Given the description of an element on the screen output the (x, y) to click on. 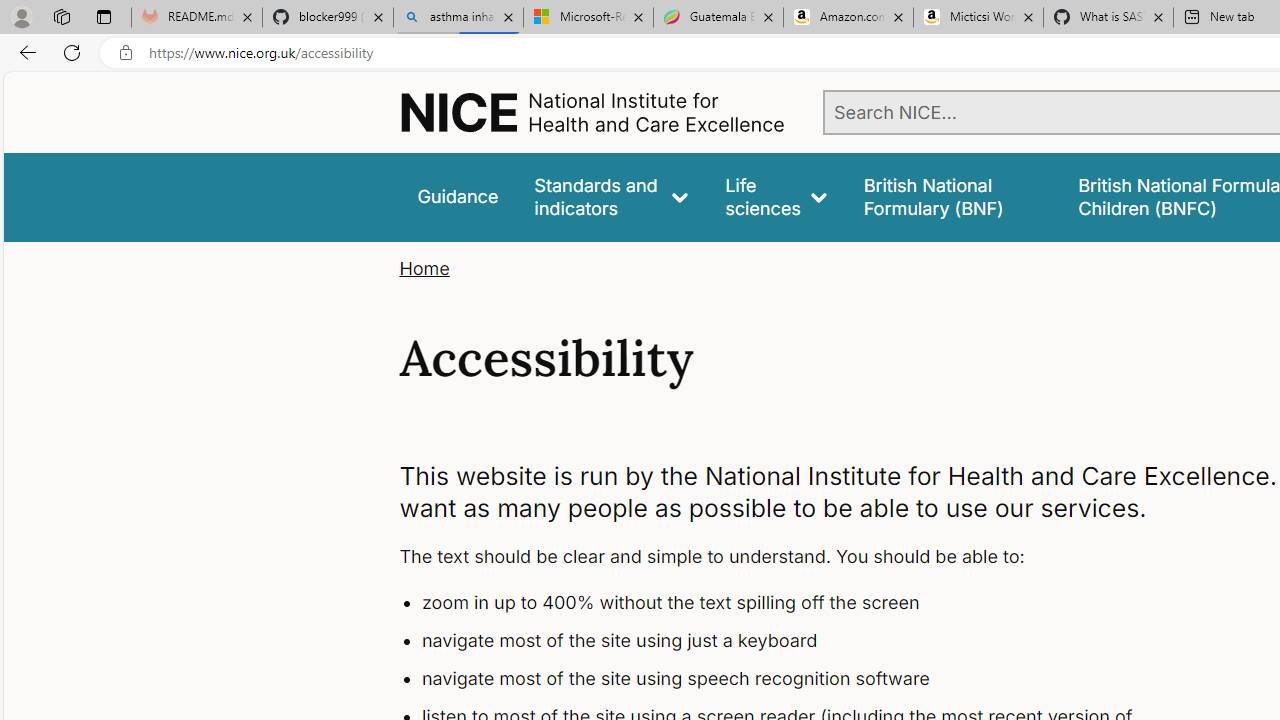
navigate most of the site using speech recognition software (796, 678)
navigate most of the site using just a keyboard (796, 641)
zoom in up to 400% without the text spilling off the screen (796, 603)
